Given the description of an element on the screen output the (x, y) to click on. 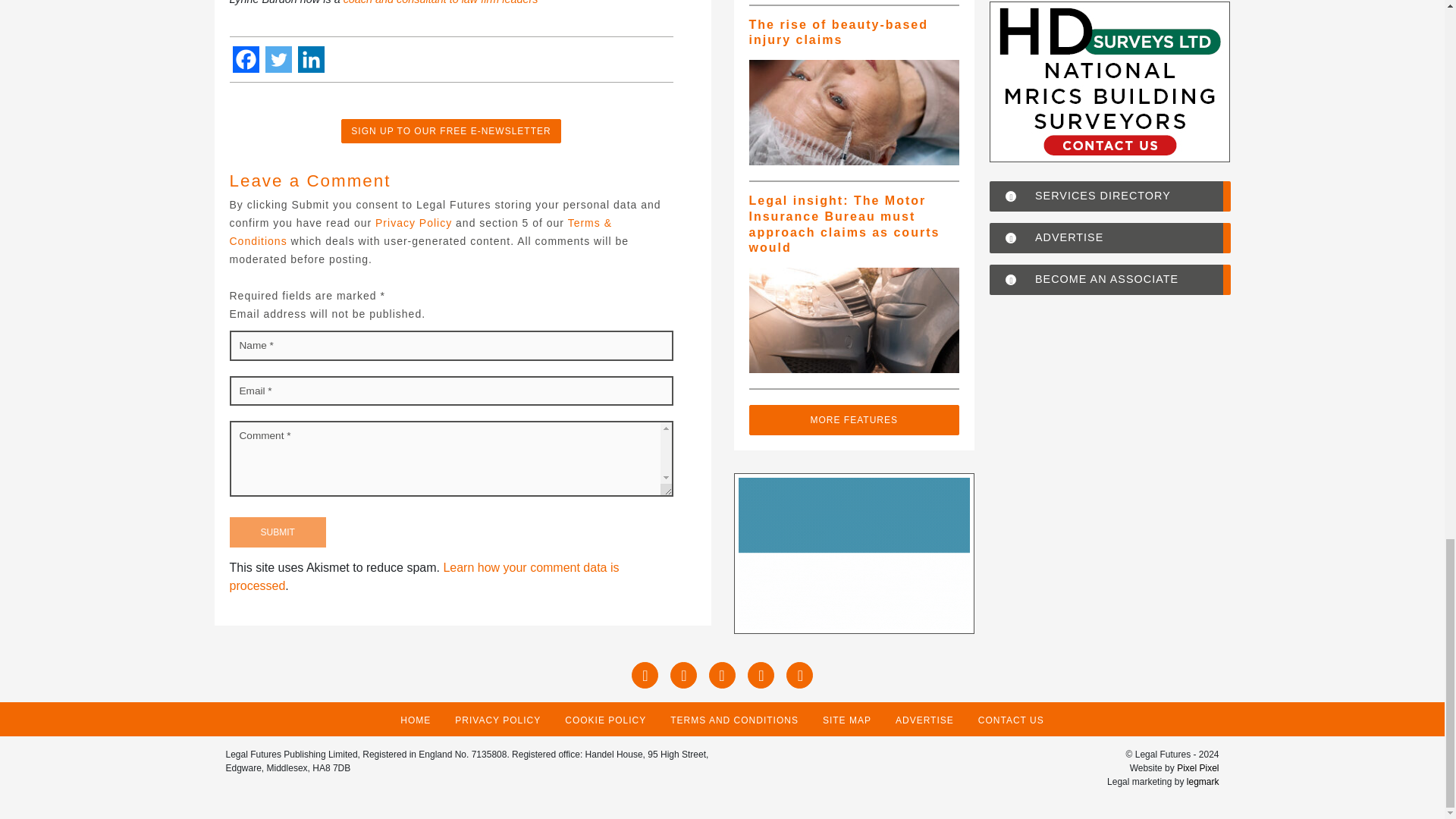
Submit (276, 531)
